Given the description of an element on the screen output the (x, y) to click on. 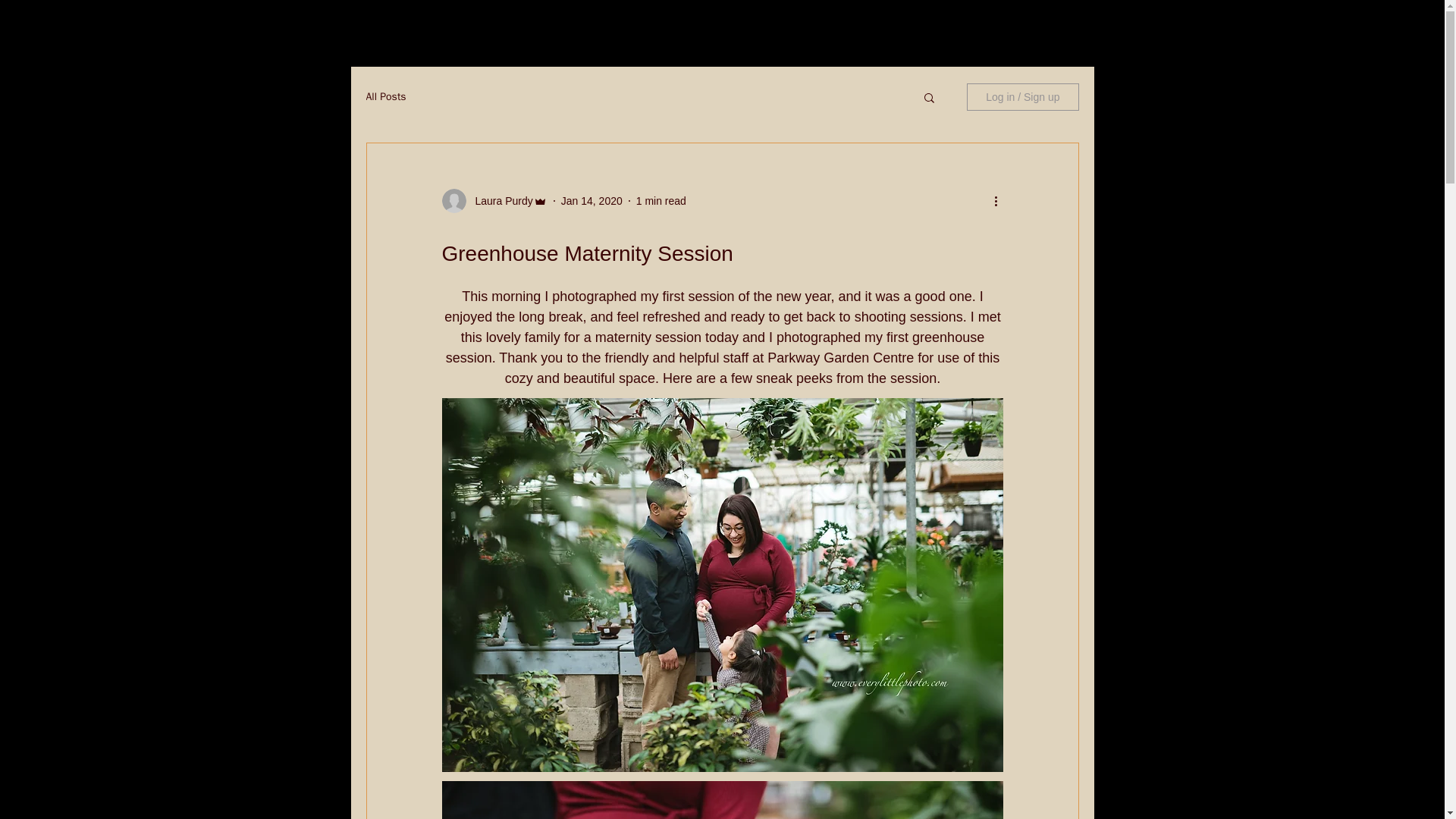
Laura Purdy (498, 200)
Jan 14, 2020 (591, 200)
1 min read (660, 200)
All Posts (385, 97)
